Given the description of an element on the screen output the (x, y) to click on. 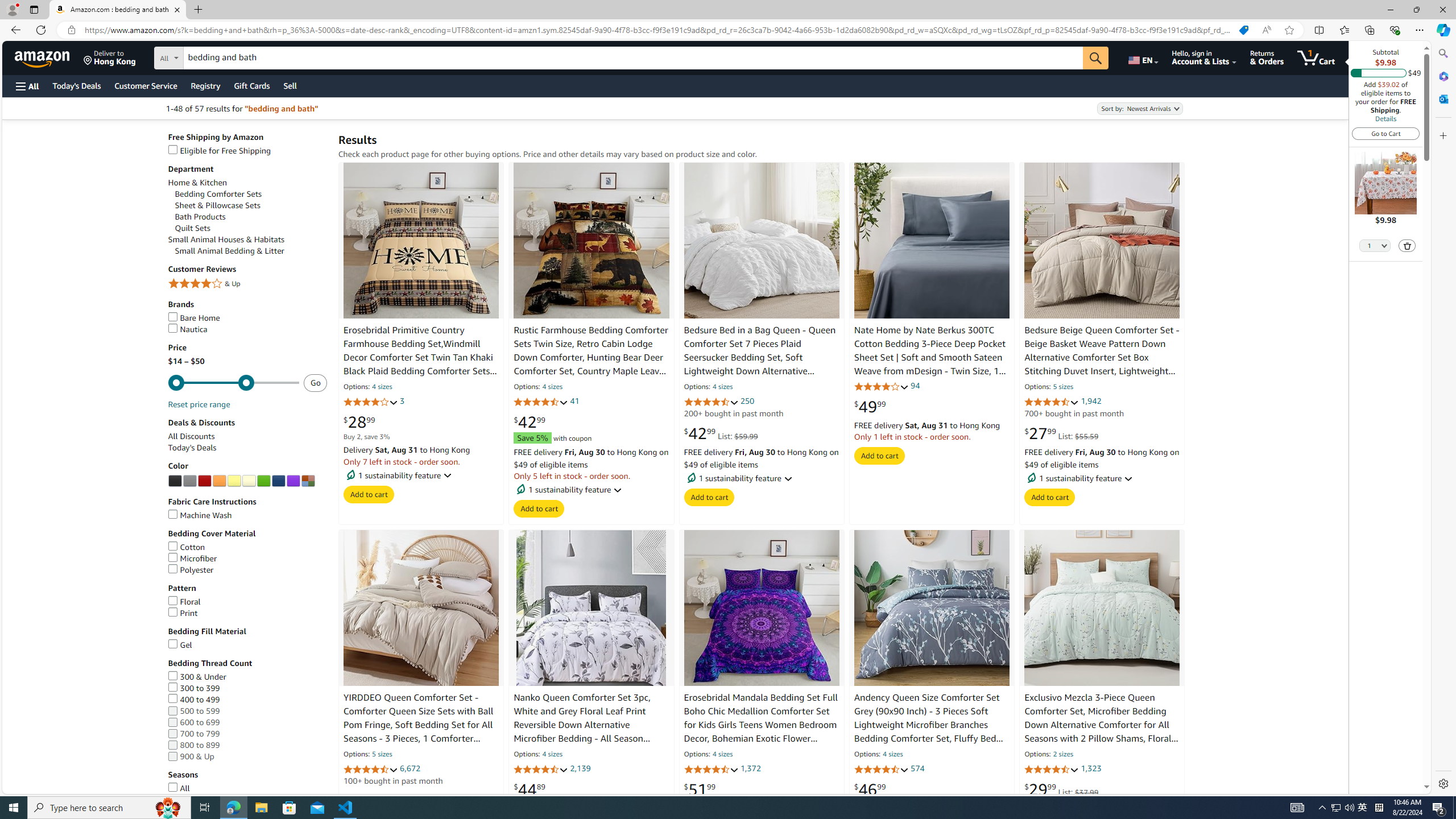
1 item in cart (1315, 57)
Small Animal Bedding & Litter (250, 250)
Eligible for Free Shipping (218, 150)
Floral (247, 601)
AutomationID: p_n_feature_twenty_browse-bin/3254107011 (248, 481)
Red (204, 481)
Returns & Orders (1266, 57)
700 to 799 (247, 733)
Green (263, 481)
Delete (1407, 245)
All Discounts (191, 436)
AutomationID: p_n_feature_twenty_browse-bin/3254110011 (292, 481)
